Given the description of an element on the screen output the (x, y) to click on. 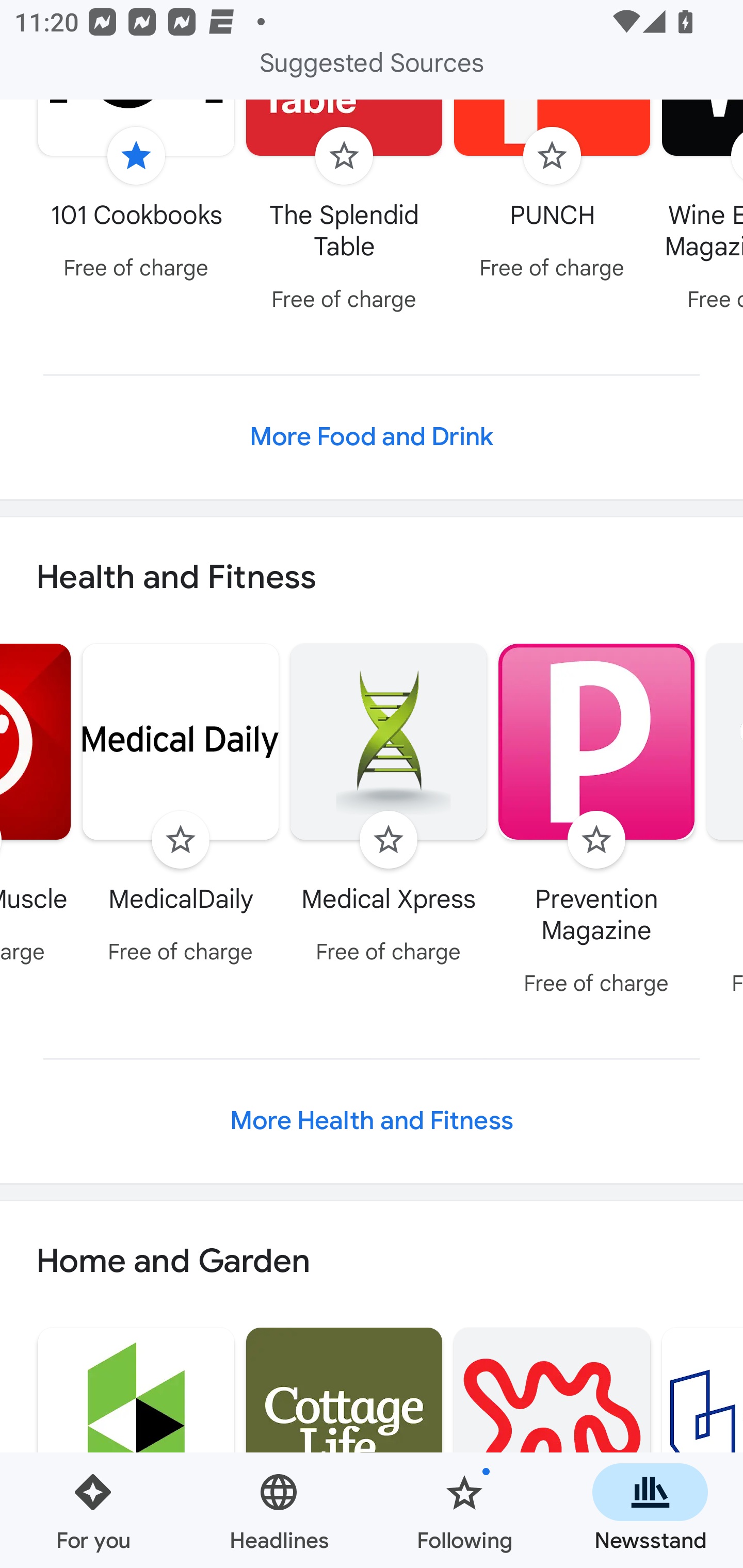
Unfollow 101 Cookbooks Free of charge (136, 194)
Follow The Splendid Table Free of charge (344, 210)
Follow PUNCH Free of charge (552, 194)
Unfollow (135, 156)
Follow (343, 156)
Follow (552, 156)
More Food and Drink (371, 436)
Health and Fitness (371, 577)
Follow MedicalDaily Free of charge (180, 806)
Follow Medical Xpress Free of charge (388, 806)
Follow Prevention Magazine Free of charge (596, 822)
Follow (180, 839)
Follow (388, 839)
Follow (596, 839)
More Health and Fitness (371, 1120)
Home and Garden (371, 1261)
For you (92, 1509)
Headlines (278, 1509)
Following (464, 1509)
Newsstand (650, 1509)
